Given the description of an element on the screen output the (x, y) to click on. 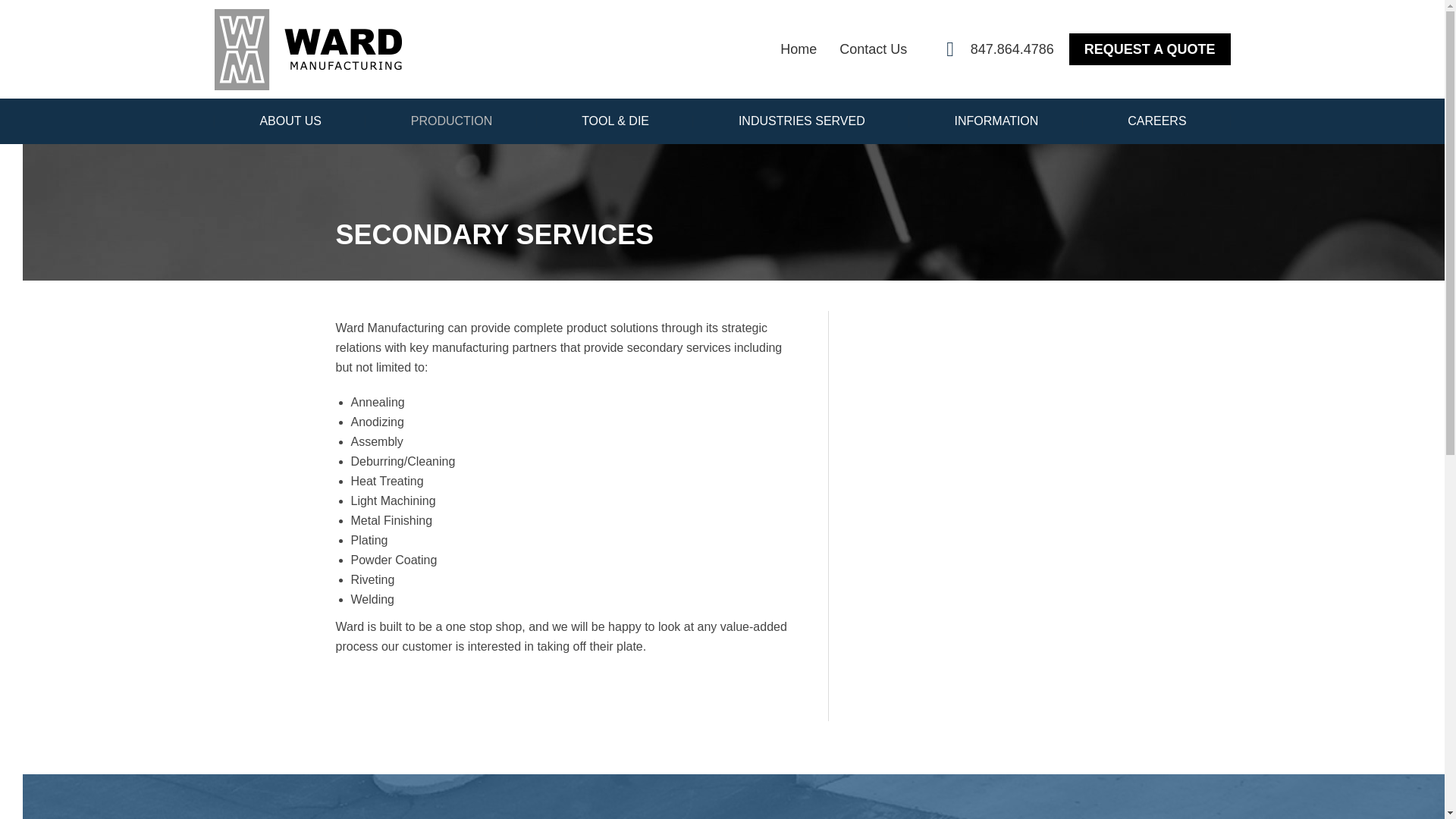
INDUSTRIES SERVED (801, 121)
Home (798, 48)
REQUEST A QUOTE (1149, 49)
Contact Us (873, 48)
ABOUT US (290, 121)
PRODUCTION (450, 121)
INFORMATION (997, 121)
CAREERS (1156, 121)
